Given the description of an element on the screen output the (x, y) to click on. 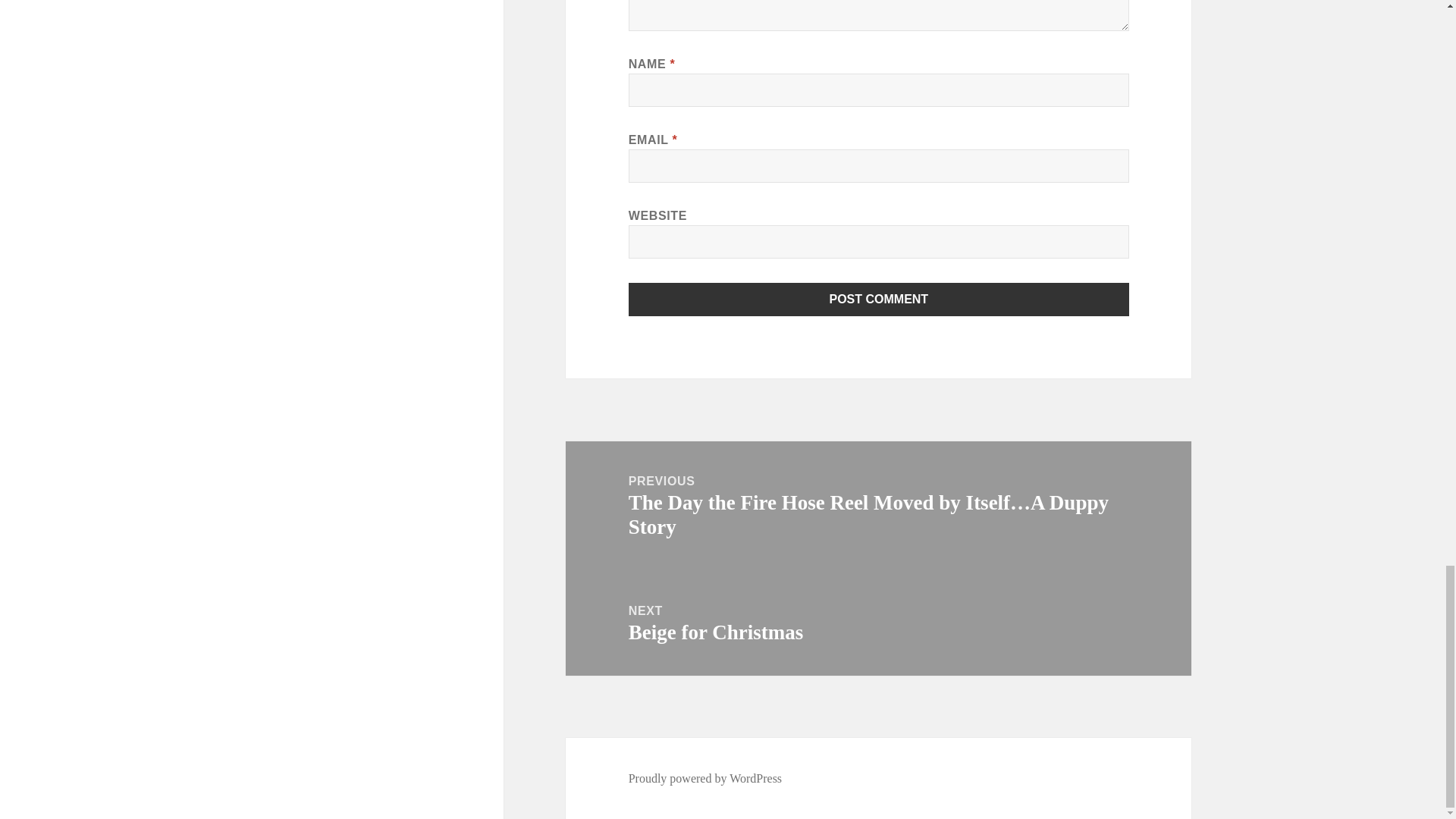
Post Comment (878, 299)
